Given the description of an element on the screen output the (x, y) to click on. 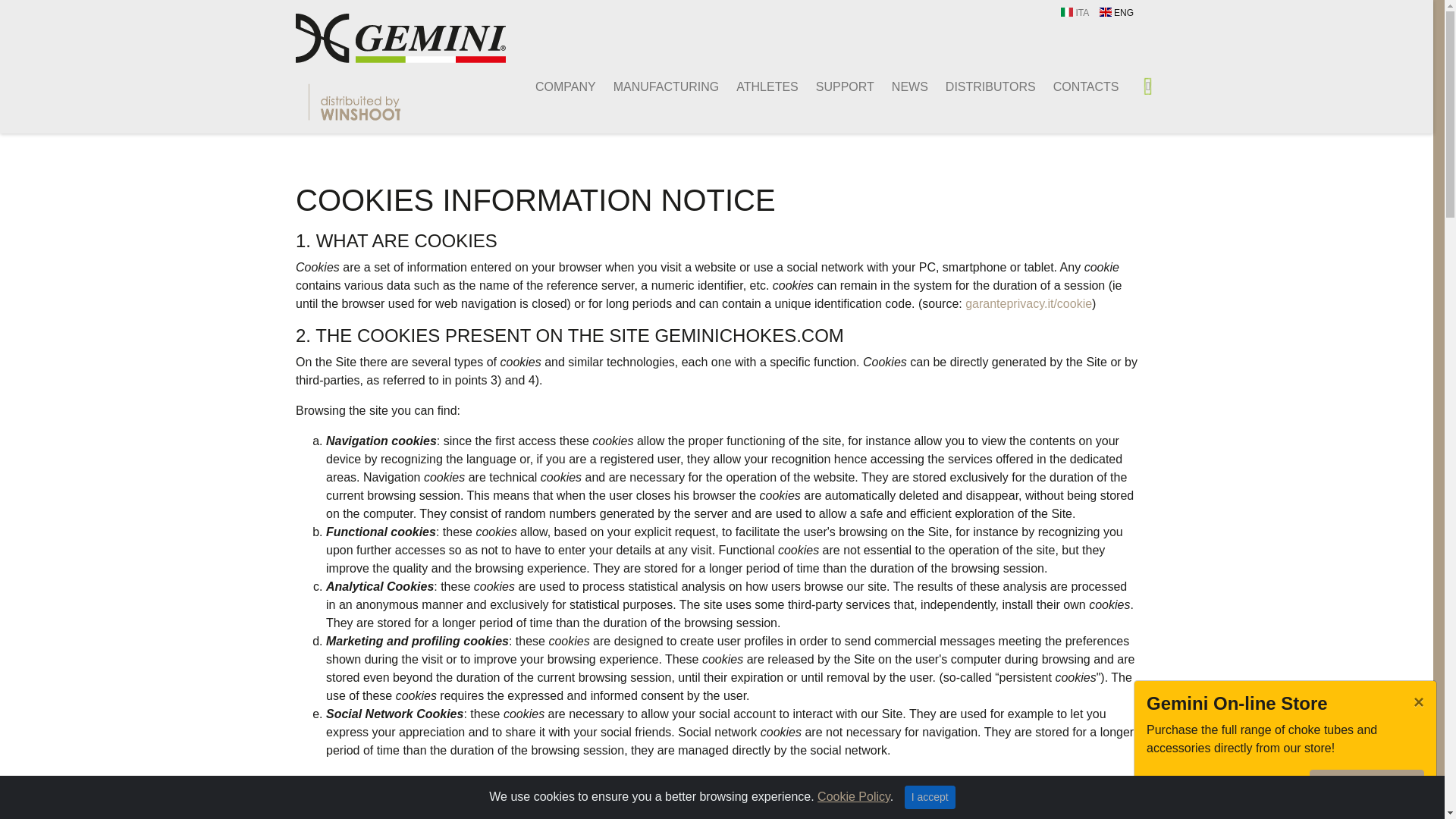
Cookie Policy (852, 796)
ENG (1116, 13)
Support (836, 87)
I accept (929, 797)
SUPPORT (836, 87)
Cookie Policy (852, 796)
News (901, 87)
English (1116, 13)
Athletes (758, 87)
MANUFACTURING (657, 87)
CONTACTS (1077, 87)
Distributors (981, 87)
NEWS (901, 87)
Contacts (1077, 87)
Manufacturing (657, 87)
